Given the description of an element on the screen output the (x, y) to click on. 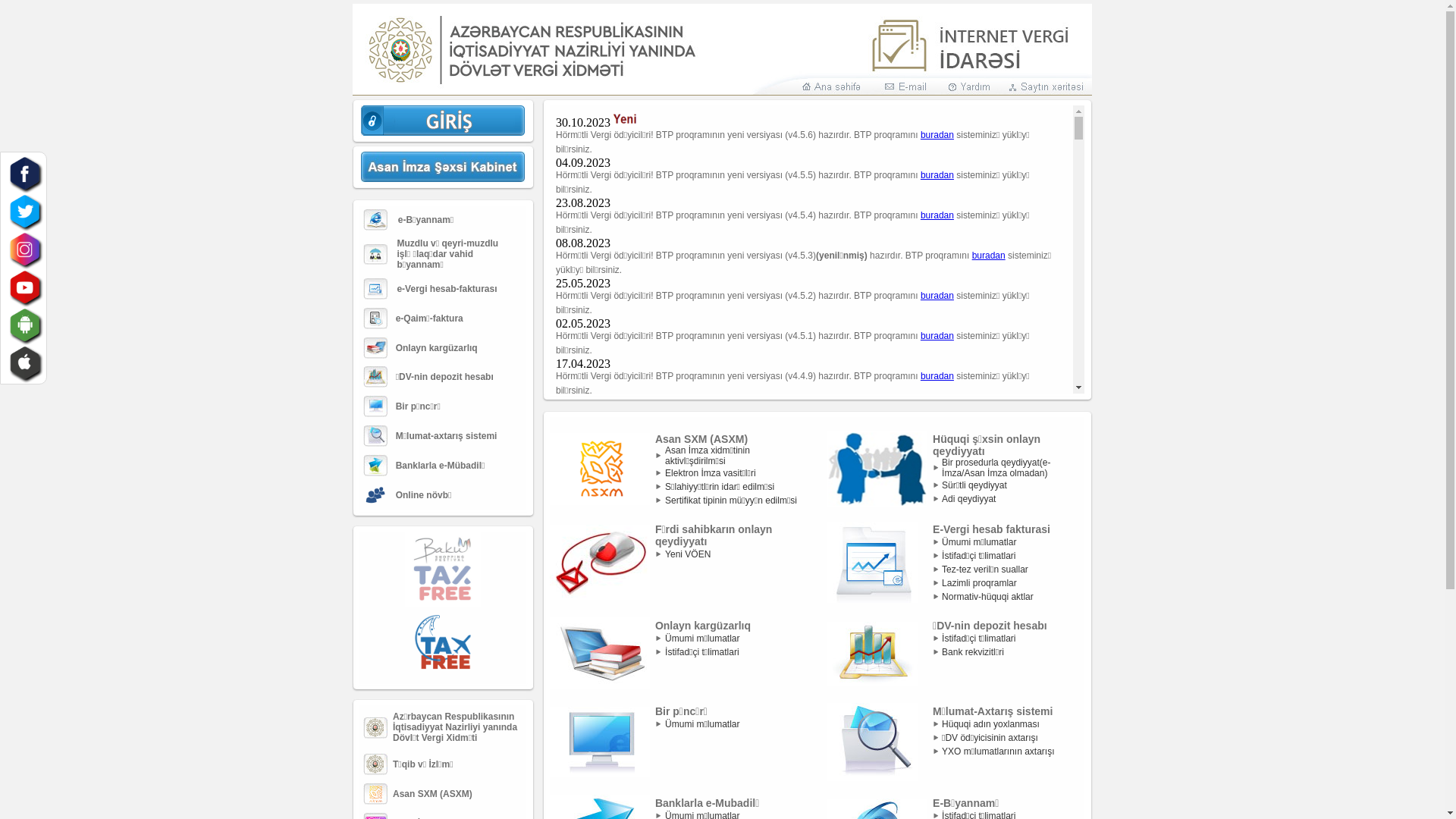
Asan SXM (ASXM) Element type: text (432, 793)
Lazimli proqramlar Element type: text (978, 582)
Adi qeydiyyat Element type: text (968, 498)
